Given the description of an element on the screen output the (x, y) to click on. 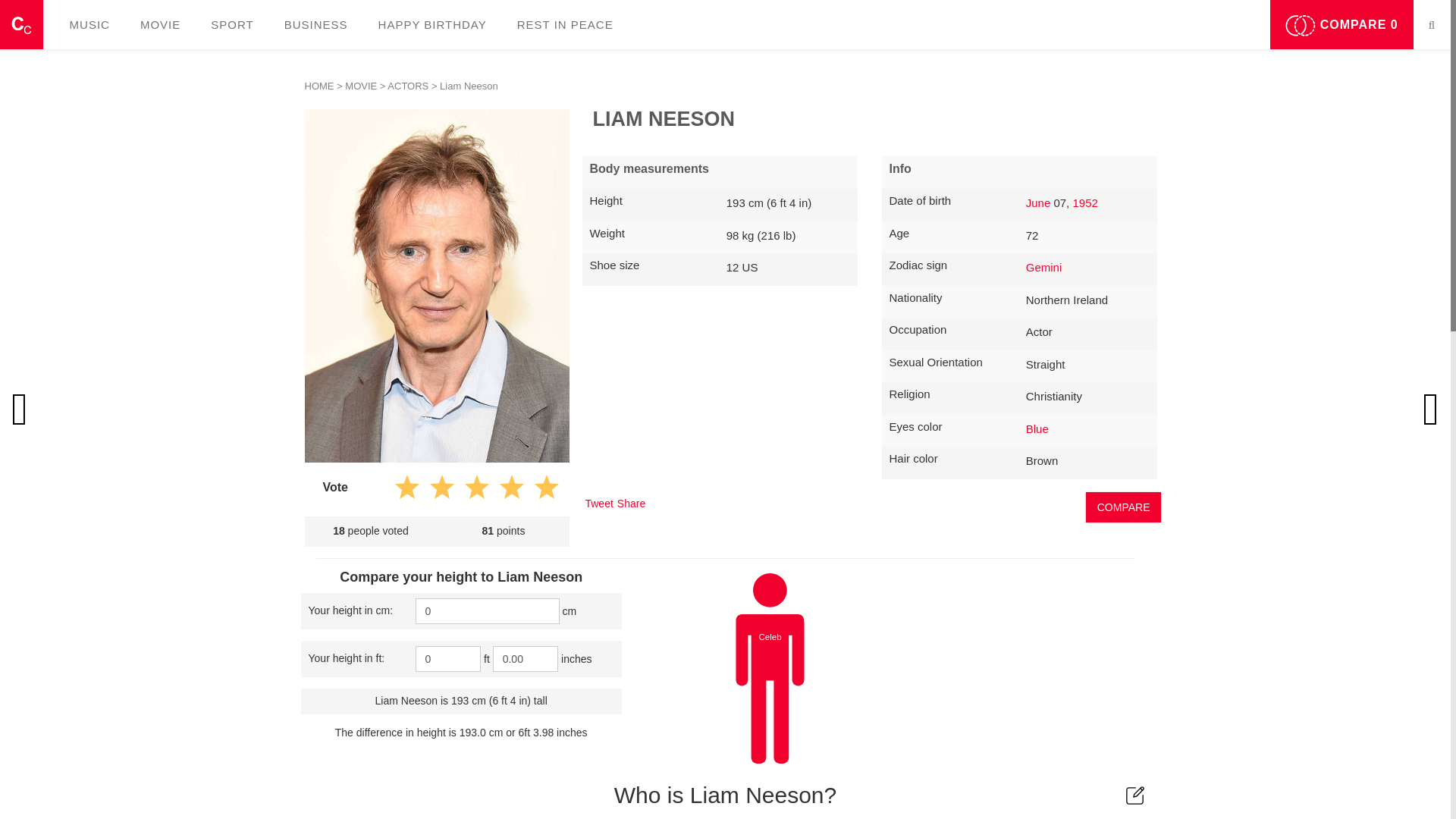
Share (631, 503)
June (1038, 202)
0 (447, 658)
3 (472, 488)
MOVIE (160, 24)
Tweet (598, 503)
4 (505, 488)
HAPPY BIRTHDAY (432, 24)
HOME (319, 85)
Gemini (1044, 267)
3 points (472, 488)
Blue (1037, 428)
BUSINESS (315, 24)
5 points (540, 488)
1 point (407, 488)
